Given the description of an element on the screen output the (x, y) to click on. 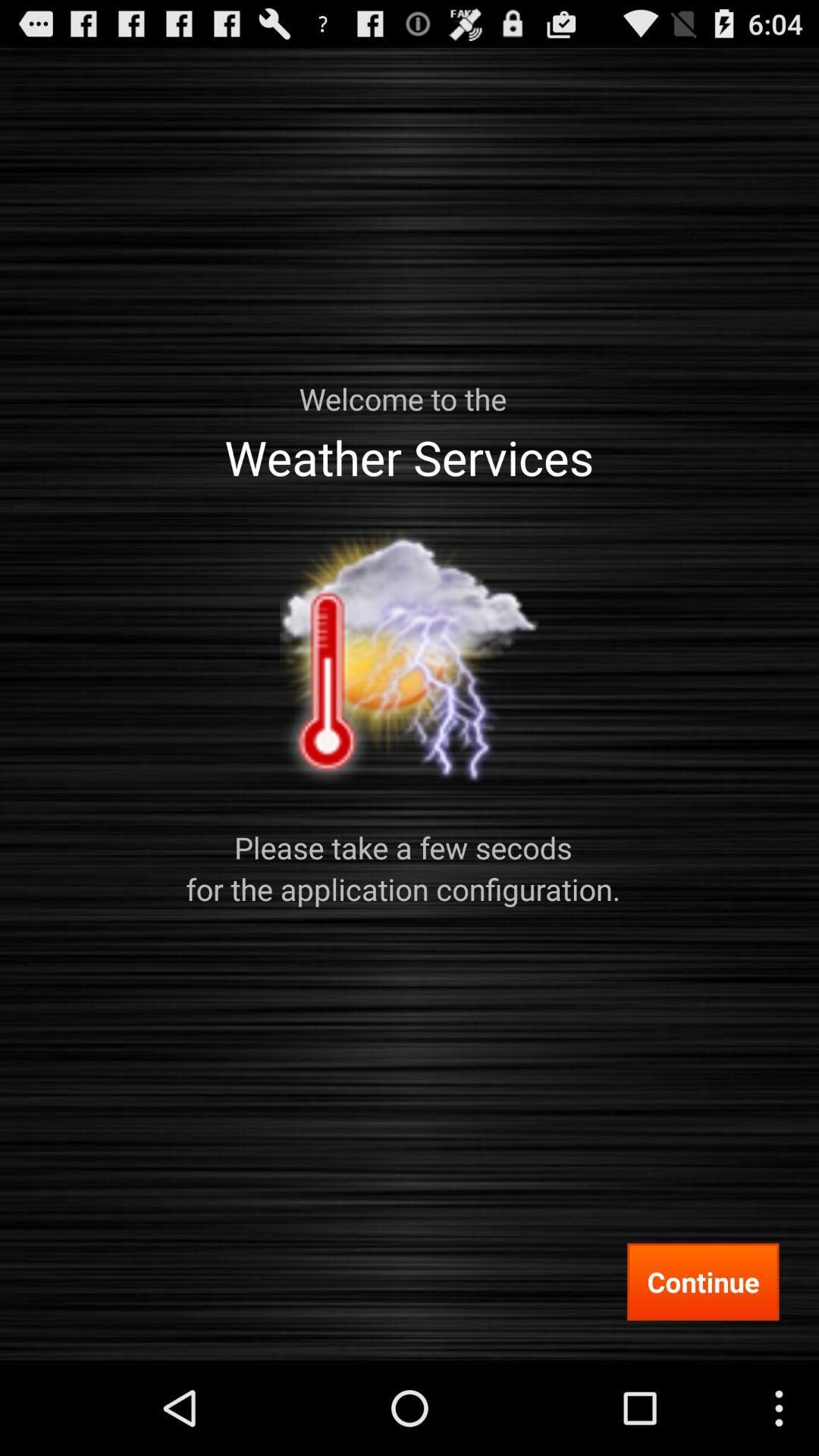
select the continue at the bottom right corner (703, 1281)
